Given the description of an element on the screen output the (x, y) to click on. 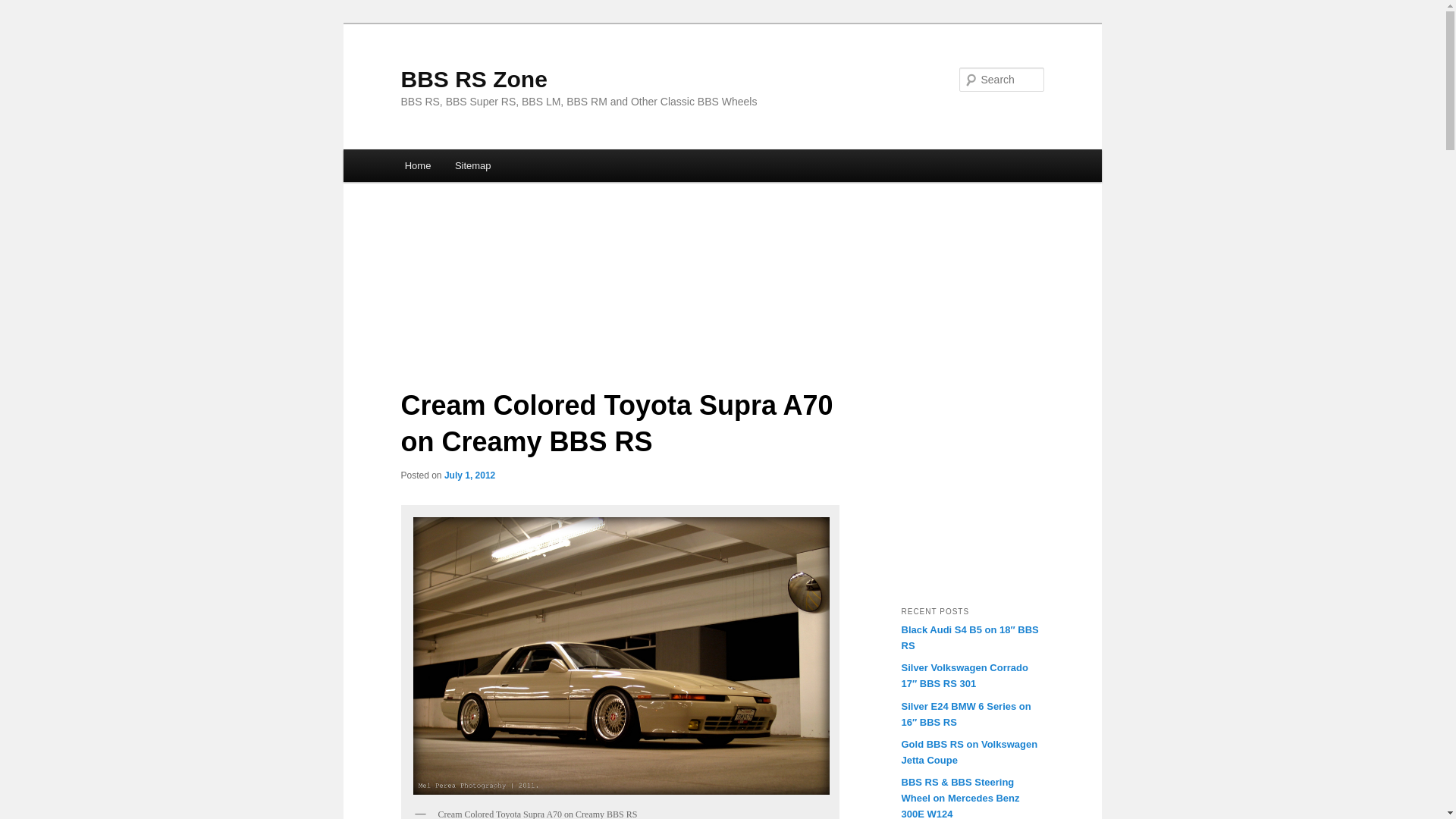
Skip to secondary content (479, 168)
12:57 am (469, 475)
Advertisement (995, 482)
July 1, 2012 (469, 475)
Skip to primary content (472, 168)
Home (417, 165)
BBS RS Zone (473, 78)
Skip to secondary content (479, 168)
Search (24, 8)
Skip to primary content (472, 168)
Sitemap (472, 165)
BBS RS Zone (473, 78)
